Given the description of an element on the screen output the (x, y) to click on. 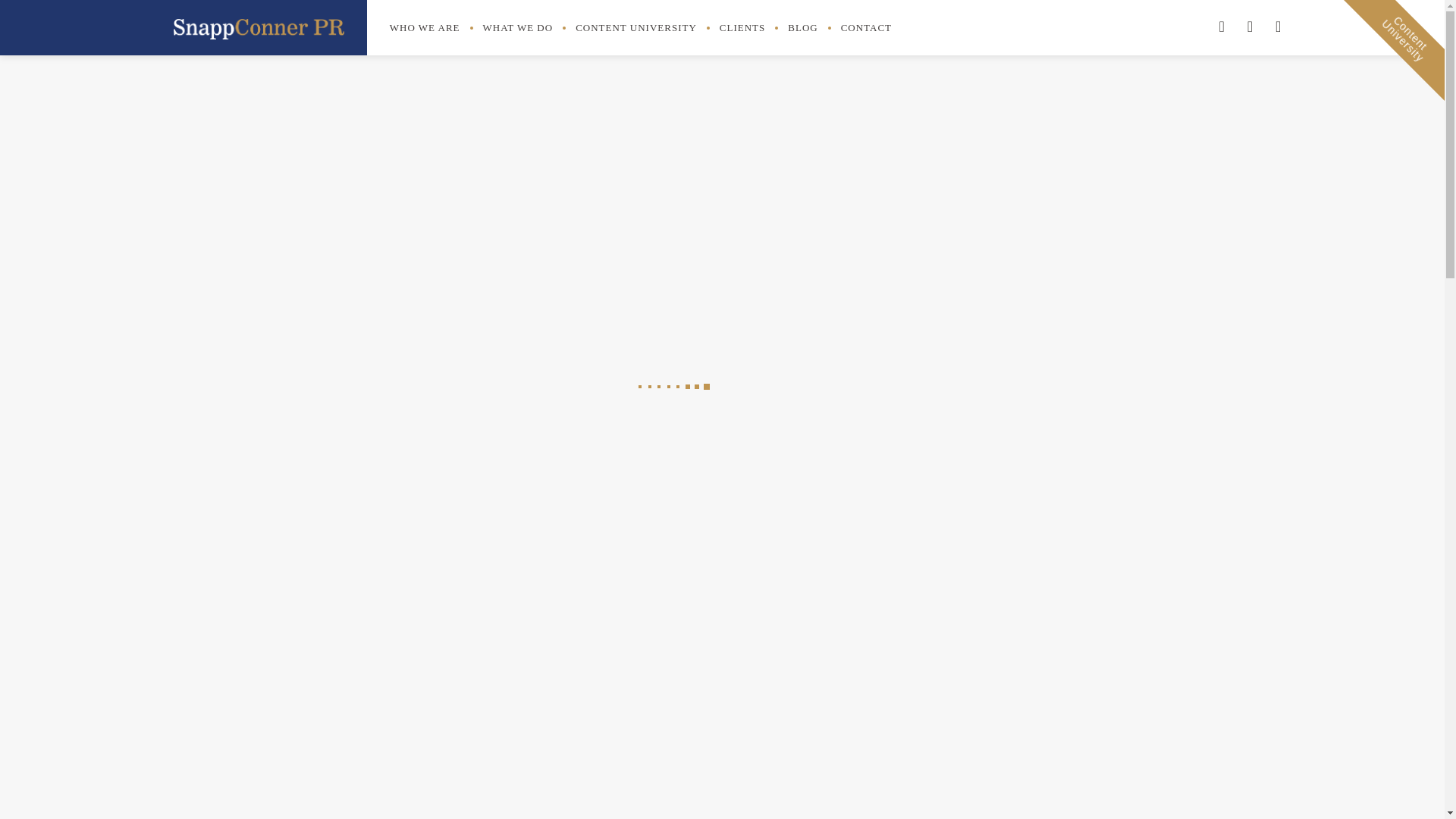
WHAT WE DO (518, 27)
Awards (934, 454)
Crisis PR (938, 727)
WHO WE ARE (425, 27)
Brand Management (963, 536)
Business News (953, 563)
Brand Development (963, 509)
Communication Tips (965, 673)
CONTACT (866, 27)
